Given the description of an element on the screen output the (x, y) to click on. 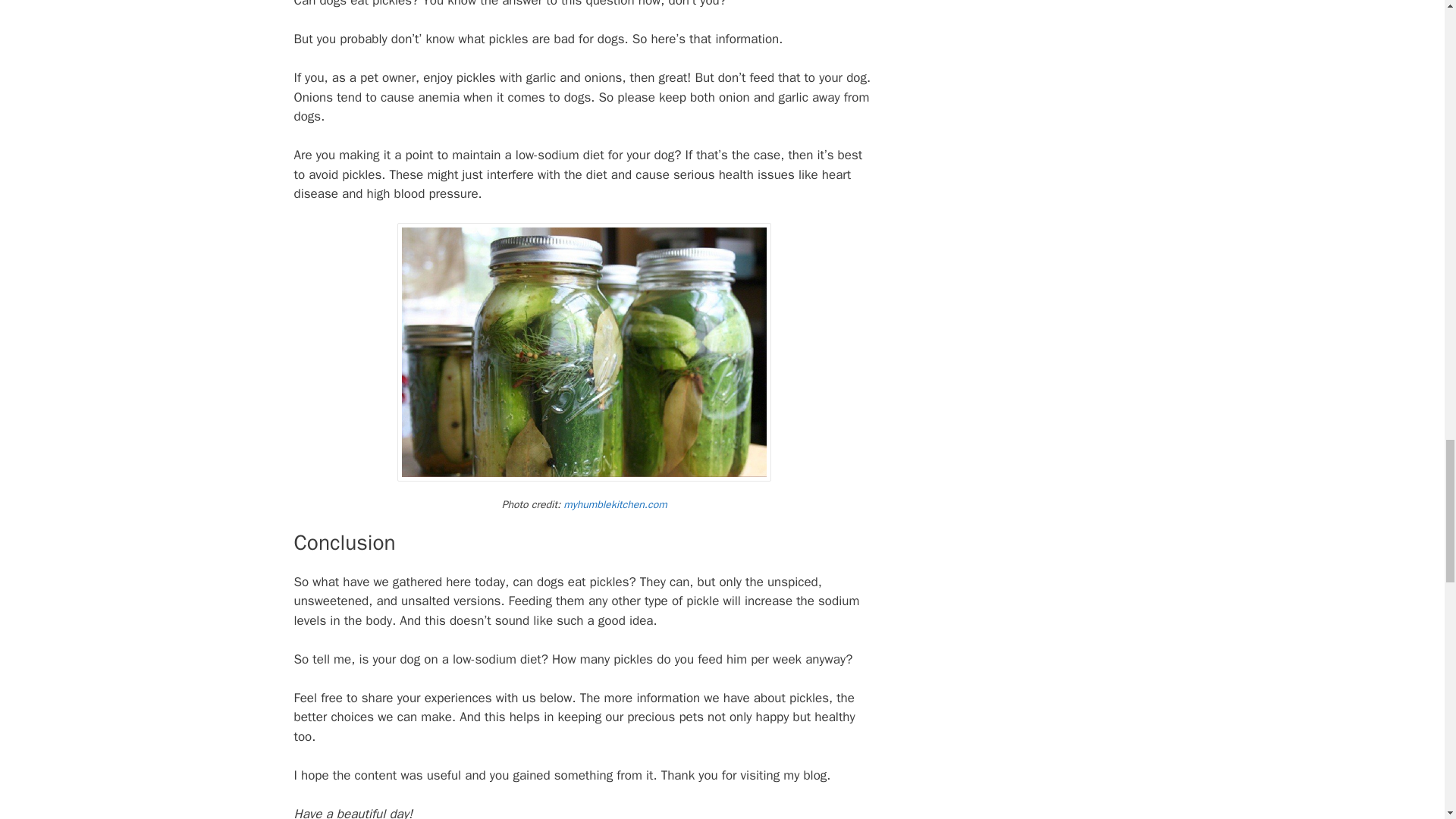
myhumblekitchen.com (614, 504)
